Given the description of an element on the screen output the (x, y) to click on. 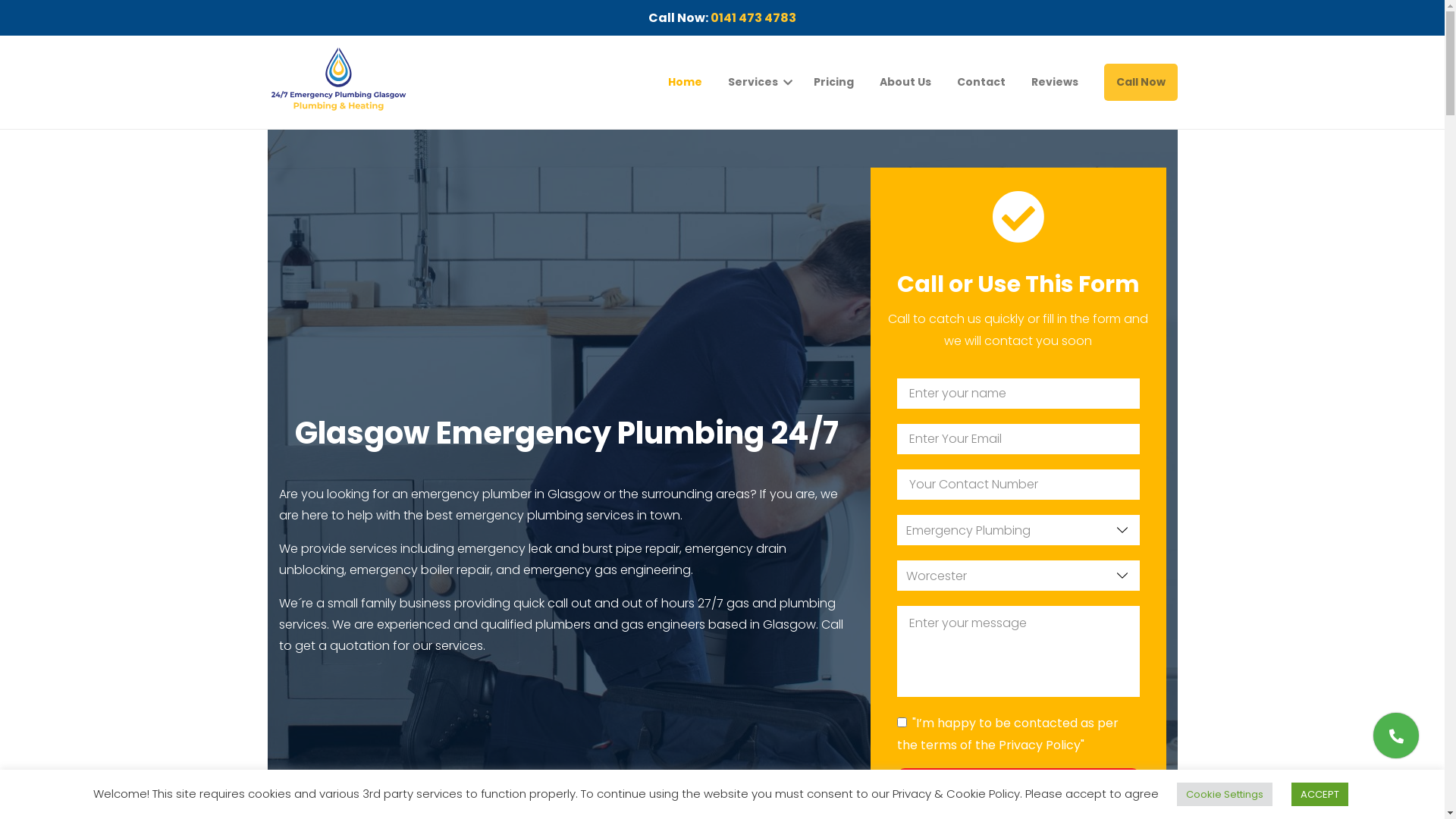
0141 473 4783 Element type: text (753, 17)
Contact Element type: text (981, 82)
Call Now Element type: text (1140, 81)
Home Element type: text (684, 82)
Services Element type: text (753, 82)
Send Element type: text (1017, 786)
ACCEPT Element type: text (1318, 794)
About Us Element type: text (905, 82)
Reviews Element type: text (1054, 82)
Pricing Element type: text (832, 82)
Cookie Settings Element type: text (1224, 794)
